Given the description of an element on the screen output the (x, y) to click on. 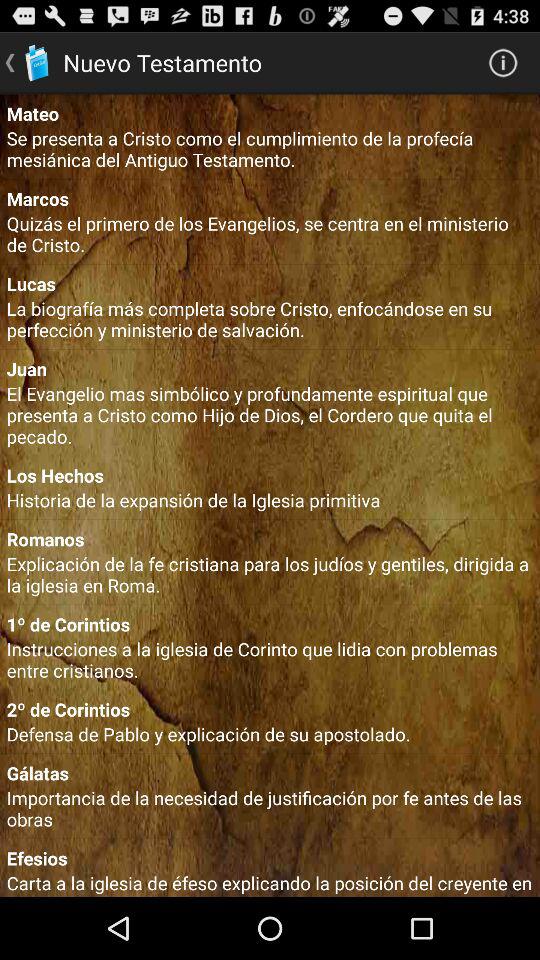
turn on efesios (269, 858)
